Given the description of an element on the screen output the (x, y) to click on. 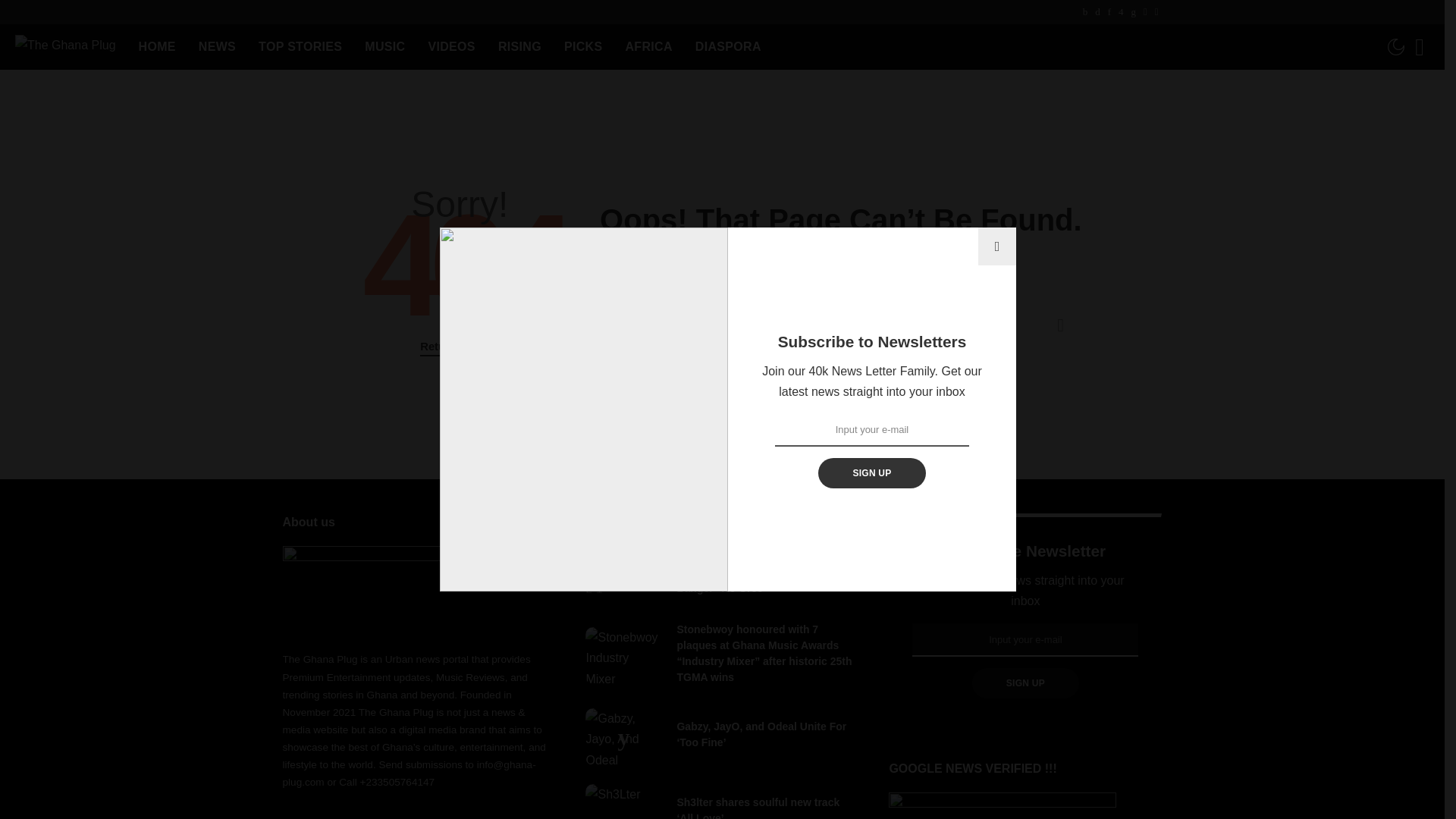
Search (1060, 324)
Search (1060, 324)
The Ghana Plug (65, 46)
SIGN UP (871, 472)
